Given the description of an element on the screen output the (x, y) to click on. 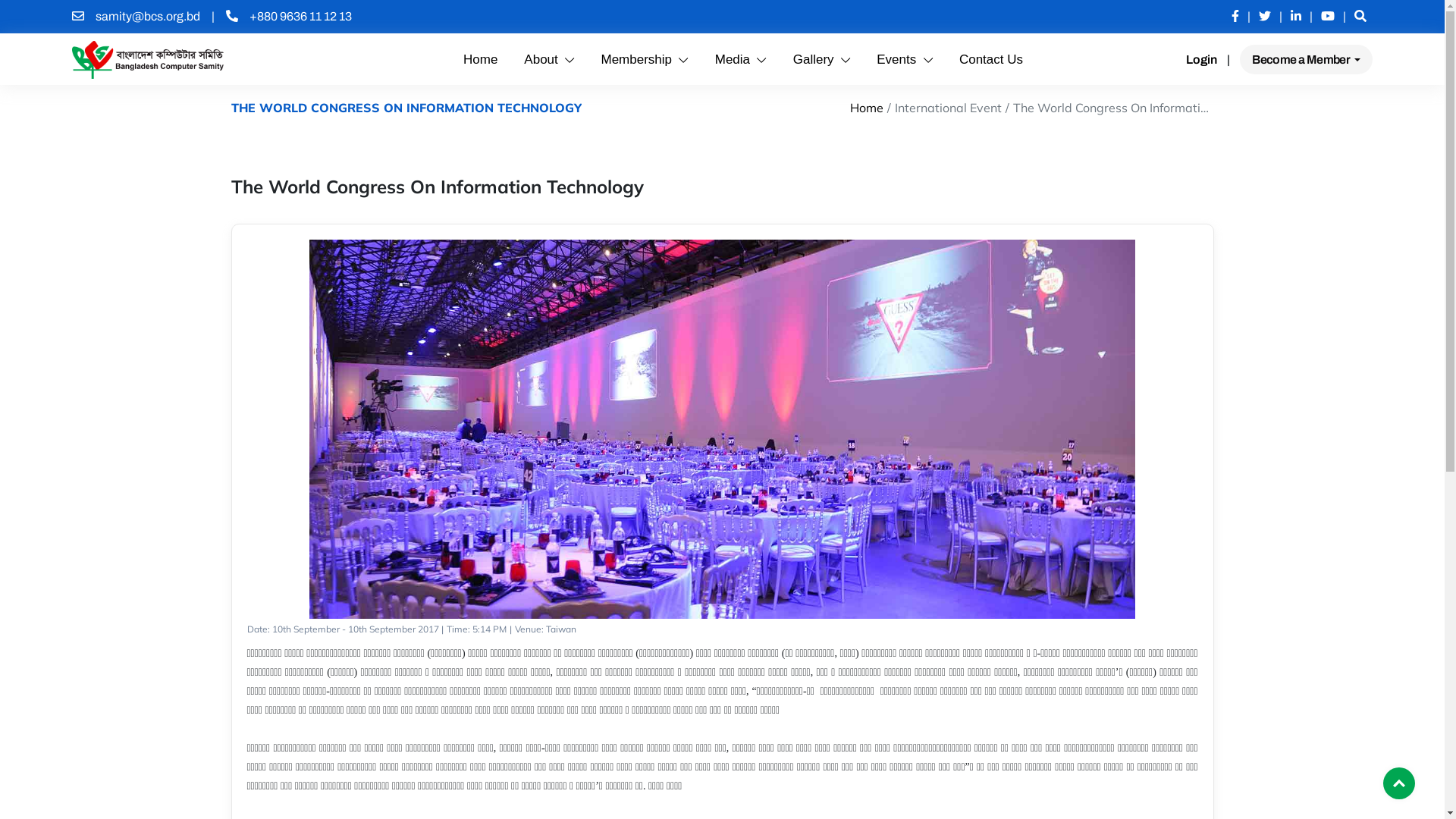
Events   Element type: text (904, 59)
Become a Member Element type: text (1305, 59)
Media   Element type: text (740, 59)
About   Element type: text (548, 59)
Login Element type: text (1201, 59)
Contact Us Element type: text (991, 59)
Membership   Element type: text (643, 59)
Home Element type: text (480, 59)
Home Element type: text (865, 107)
Gallery   Element type: text (821, 59)
